Given the description of an element on the screen output the (x, y) to click on. 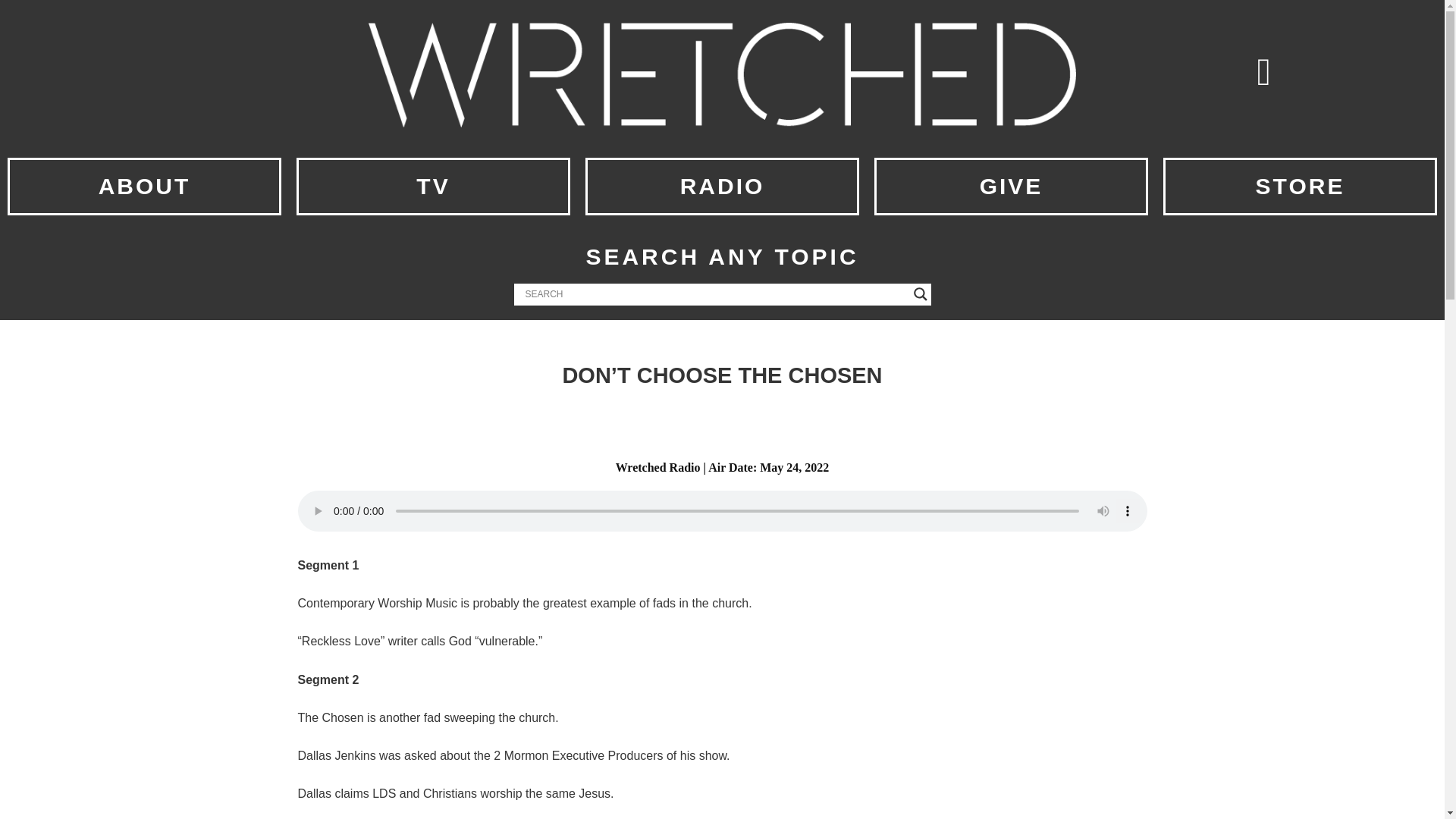
RADIO (722, 185)
TV (432, 185)
ABOUT (144, 185)
GIVE (1011, 185)
STORE (1300, 185)
